Given the description of an element on the screen output the (x, y) to click on. 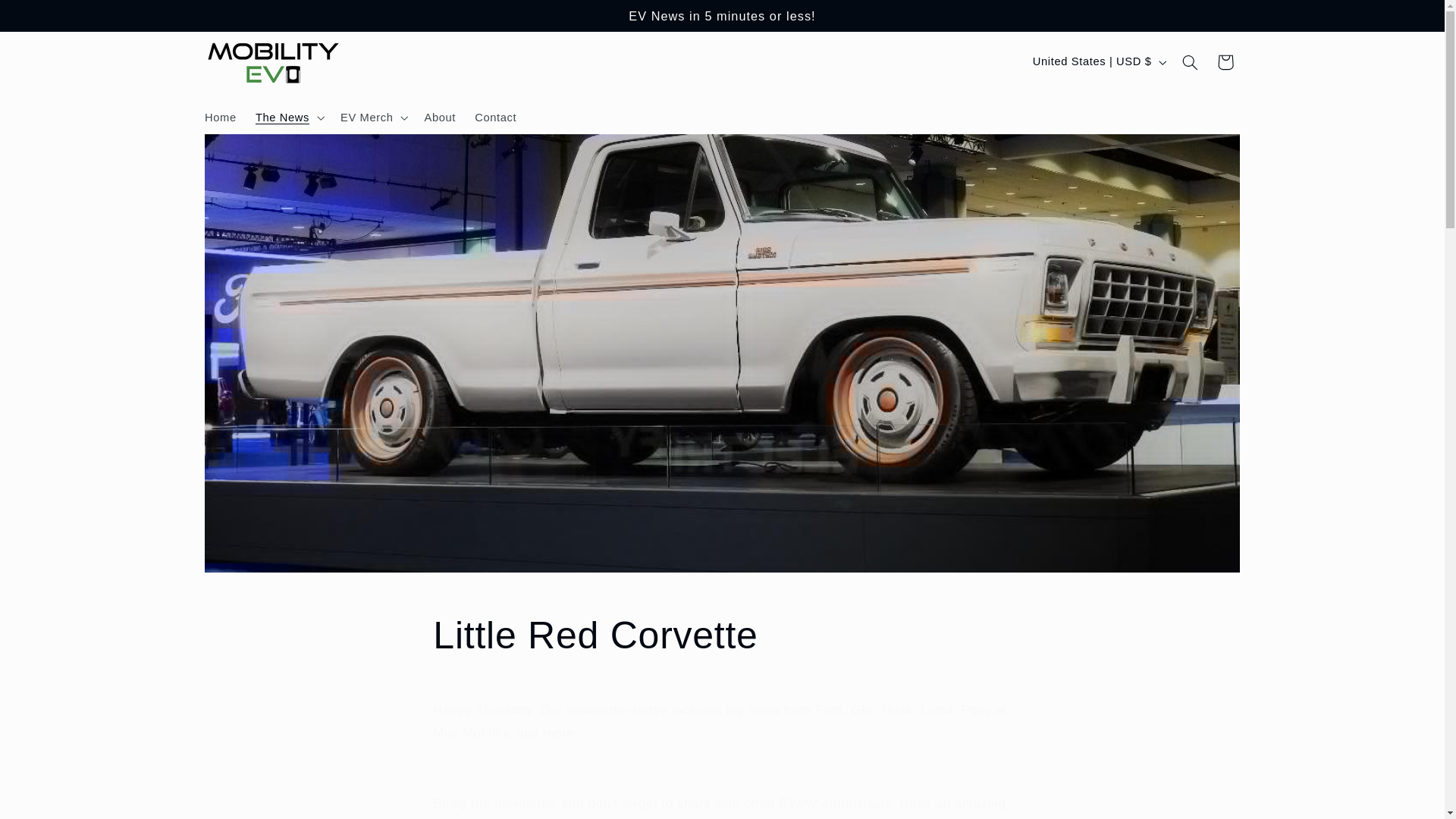
Little Red Corvette (721, 635)
Contact (495, 117)
Skip to content (48, 18)
Cart (1225, 62)
About (439, 117)
Home (220, 117)
